Given the description of an element on the screen output the (x, y) to click on. 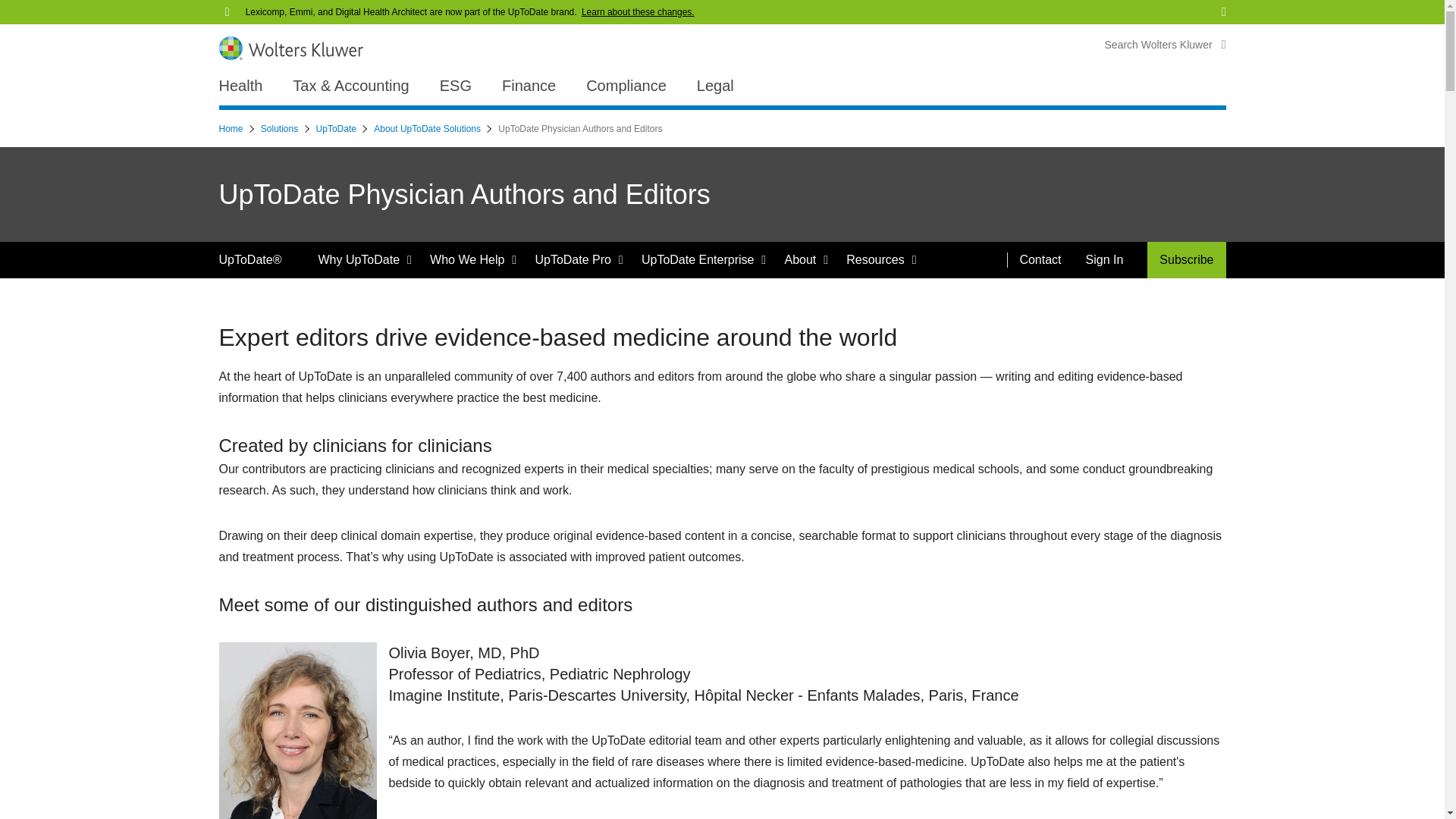
image-author-boyer (296, 730)
INVESTORS (1168, 8)
About Wolters Kluwer (274, 7)
Learn about these changes. (637, 11)
SOLUTIONS DIRECTORY (1010, 8)
Logo (290, 47)
CAREERS (1103, 8)
